Given the description of an element on the screen output the (x, y) to click on. 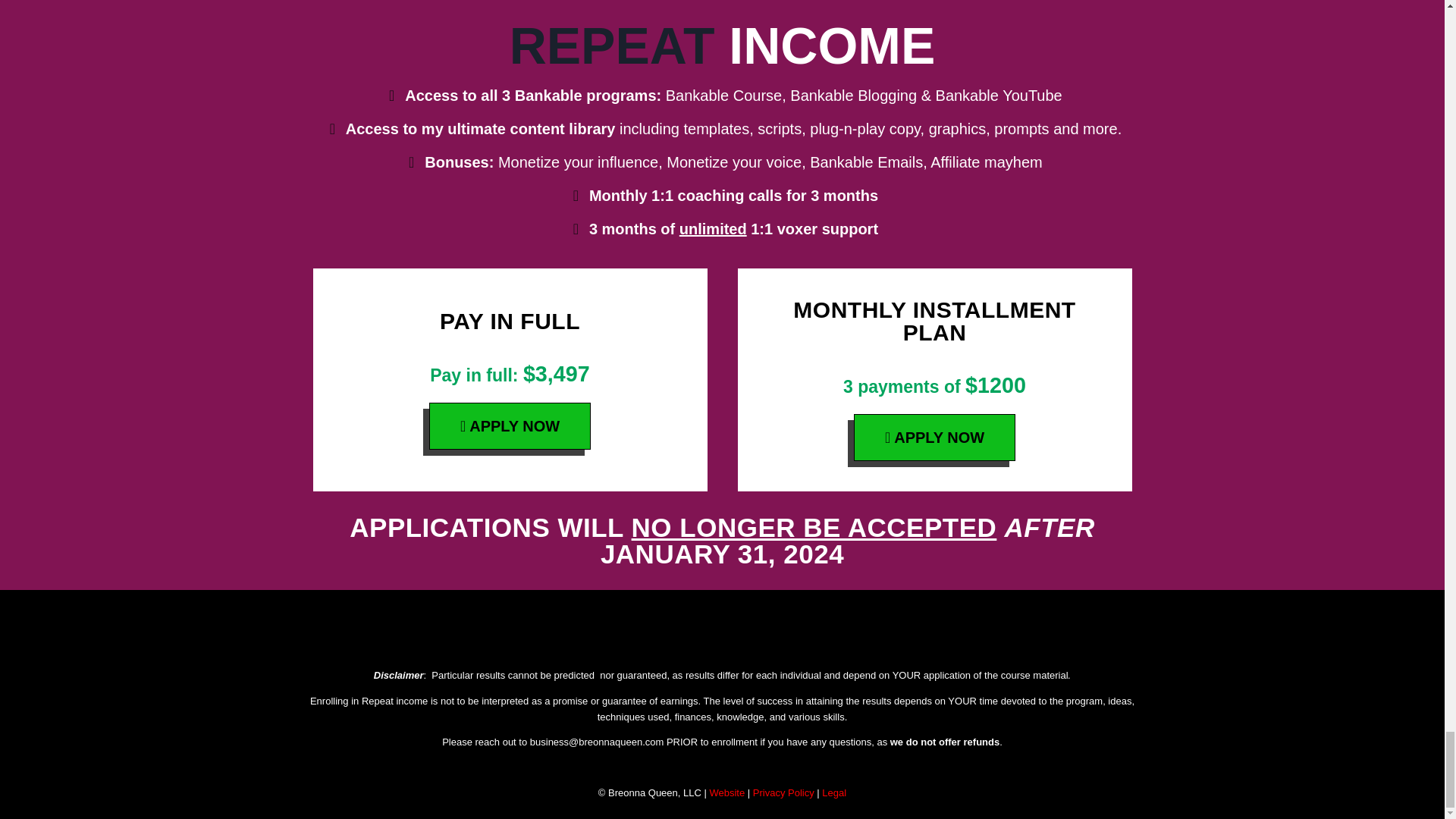
Legal (833, 792)
Privacy Policy (782, 792)
Website (726, 792)
APPLY NOW (510, 425)
APPLY NOW (933, 437)
